Given the description of an element on the screen output the (x, y) to click on. 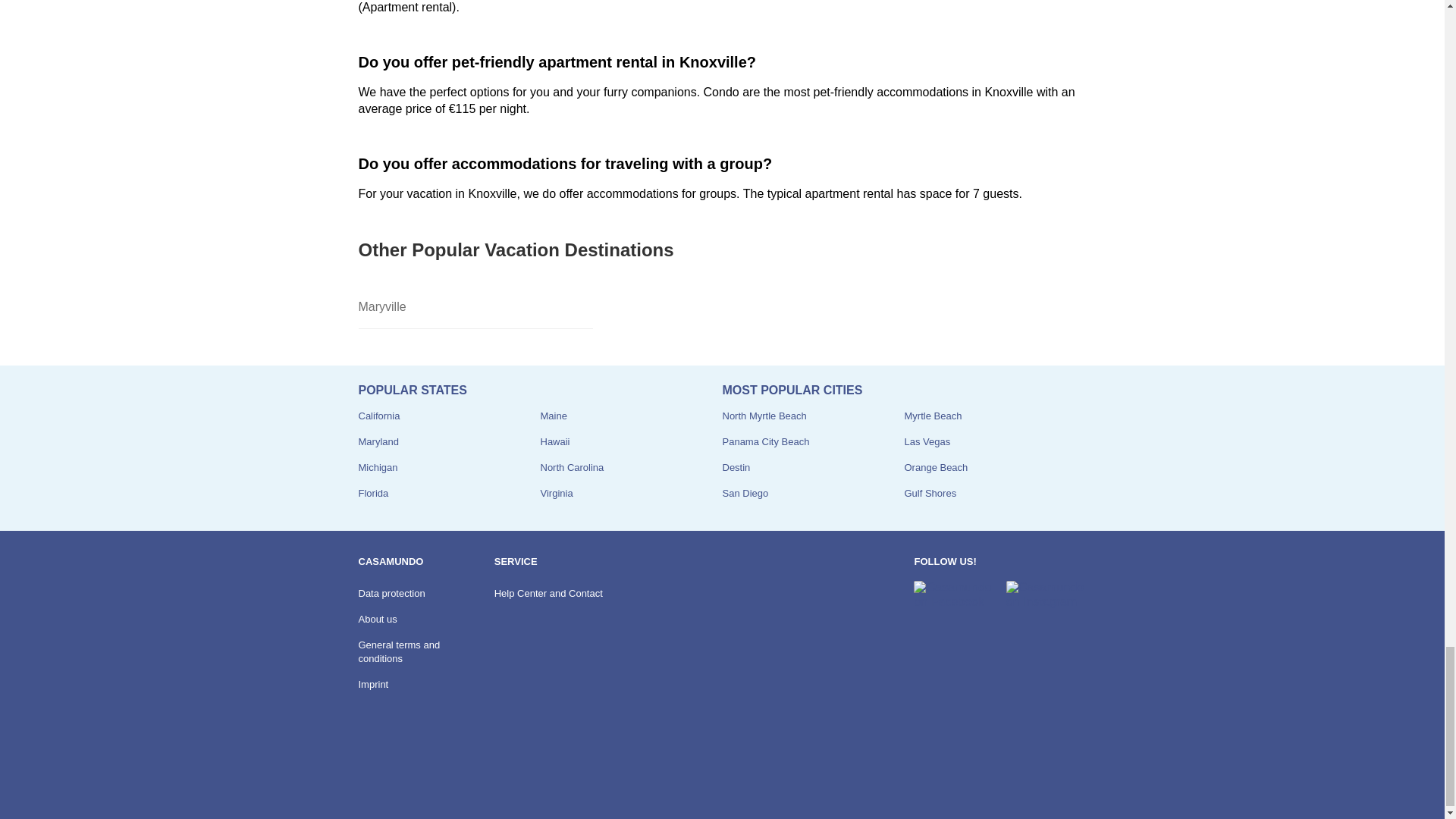
Book holiday homes and apartments - Casamundo (399, 782)
Maine (553, 415)
North Carolina (572, 467)
Maryville (475, 307)
Casamundo on Instagram (1046, 594)
Hawaii (554, 441)
California (378, 415)
Maryville (475, 307)
Maryland (377, 441)
Michigan (377, 467)
Casamundo on Facebook (953, 594)
